Given the description of an element on the screen output the (x, y) to click on. 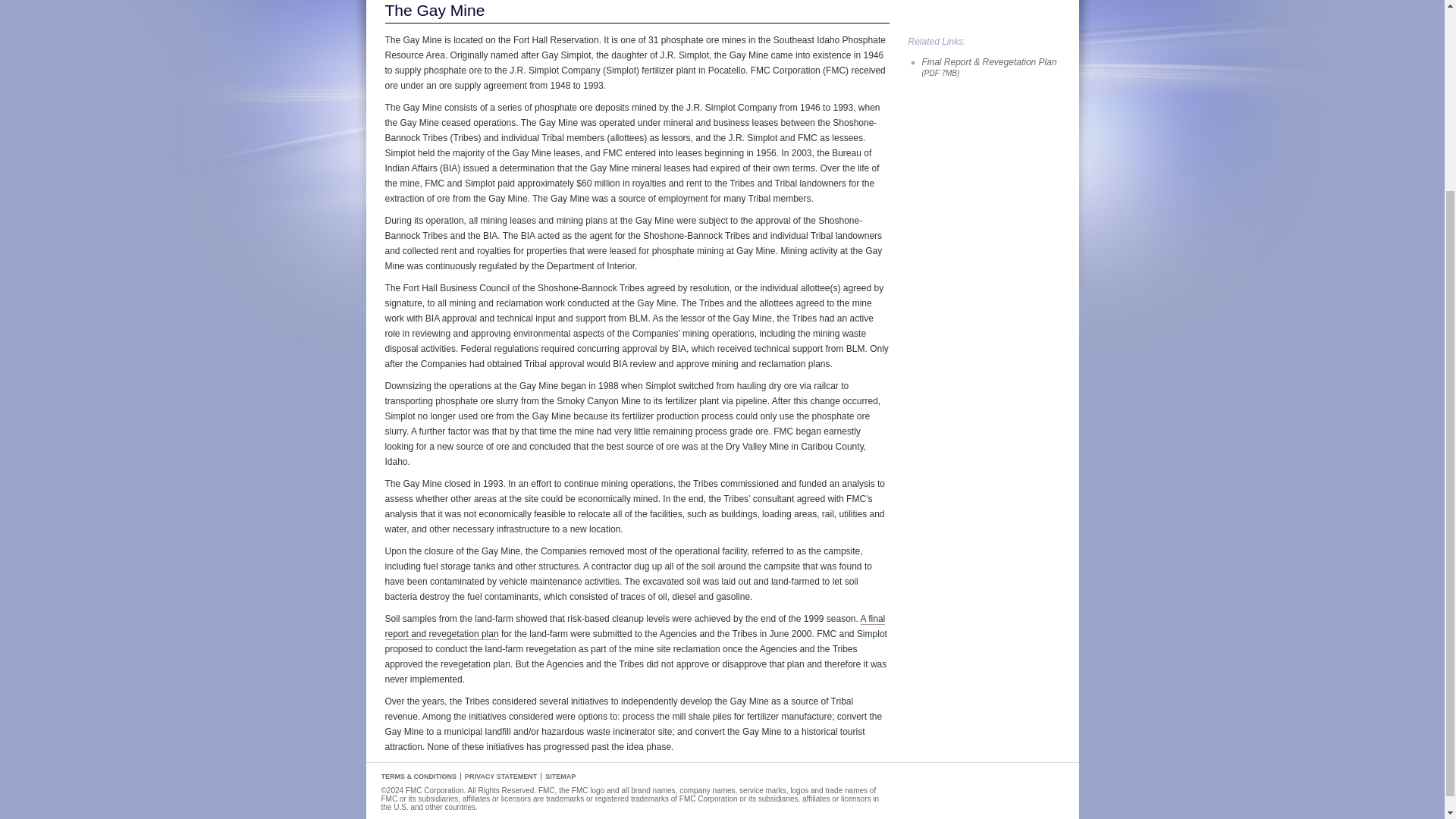
A final report and revegetation plan (635, 626)
